Given the description of an element on the screen output the (x, y) to click on. 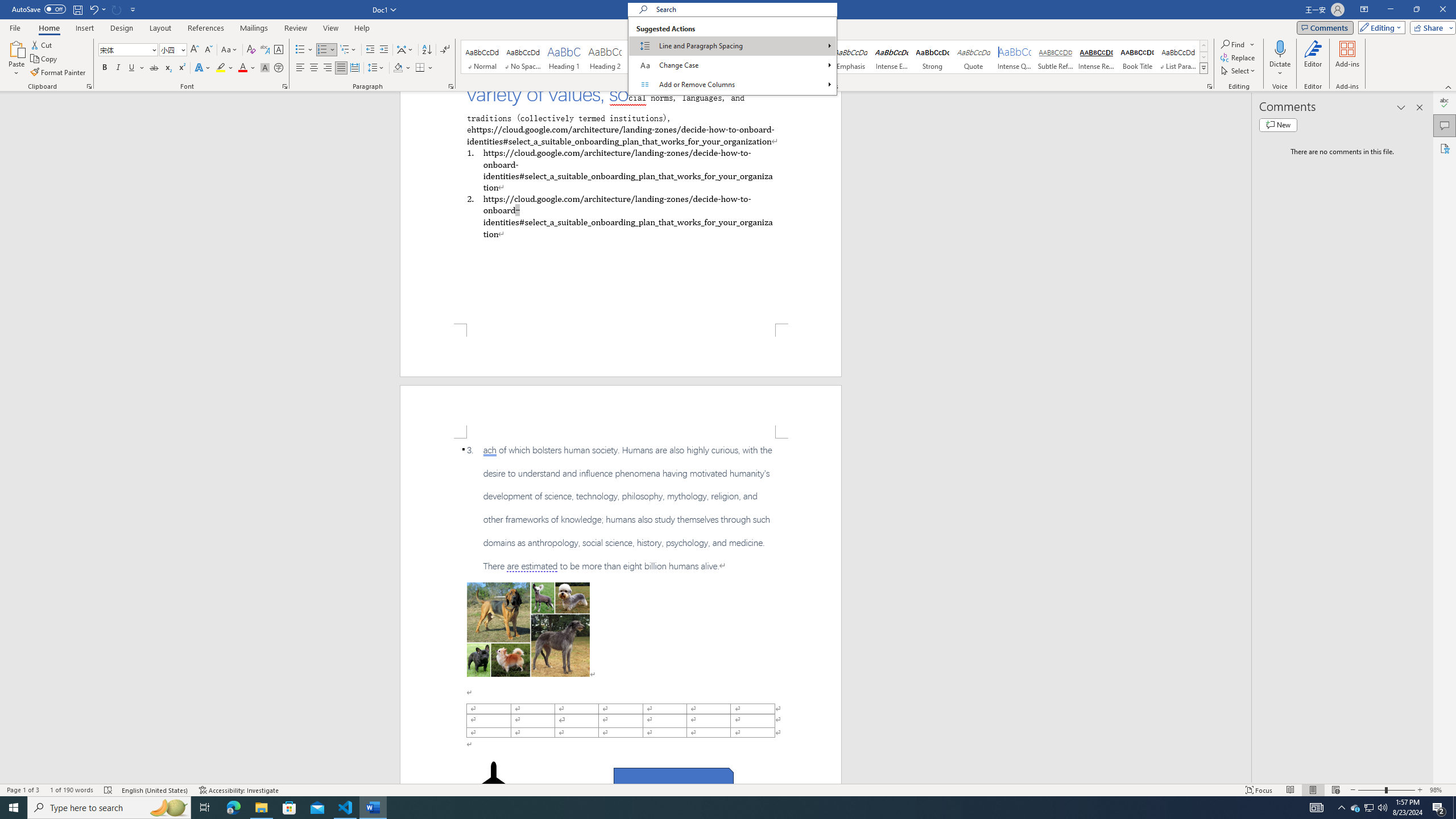
Font (124, 49)
Review (295, 28)
Subtle Emphasis (809, 56)
Bold (104, 67)
Share (1430, 27)
Italic (118, 67)
Row up (1203, 45)
Editing (1379, 27)
Center (313, 67)
Asian Layout (405, 49)
Font Color Automatic (241, 67)
Emphasis (849, 56)
Heading 1 (564, 56)
Layout (160, 28)
